Given the description of an element on the screen output the (x, y) to click on. 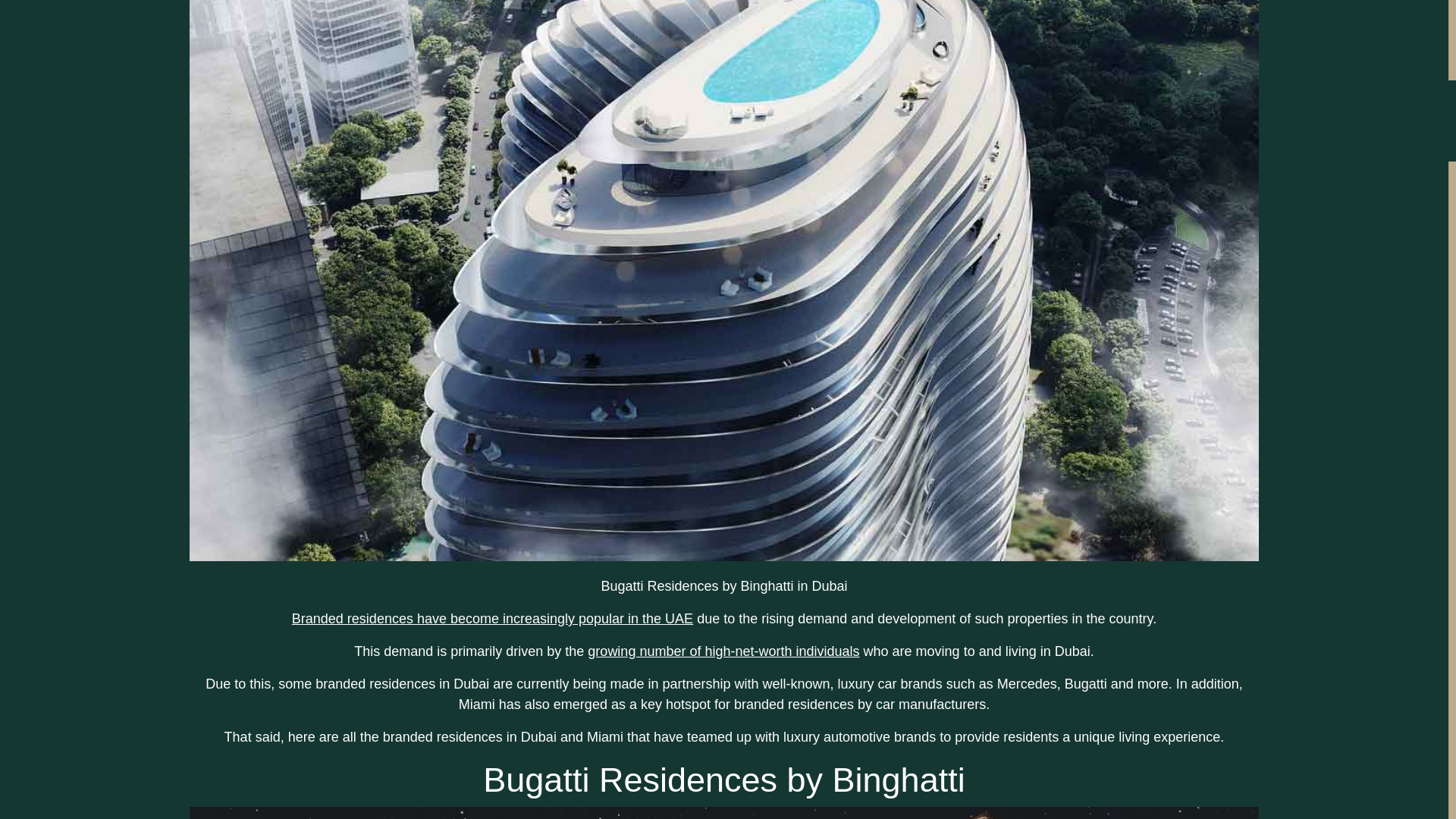
growing number of high-net-worth individuals (723, 651)
